Given the description of an element on the screen output the (x, y) to click on. 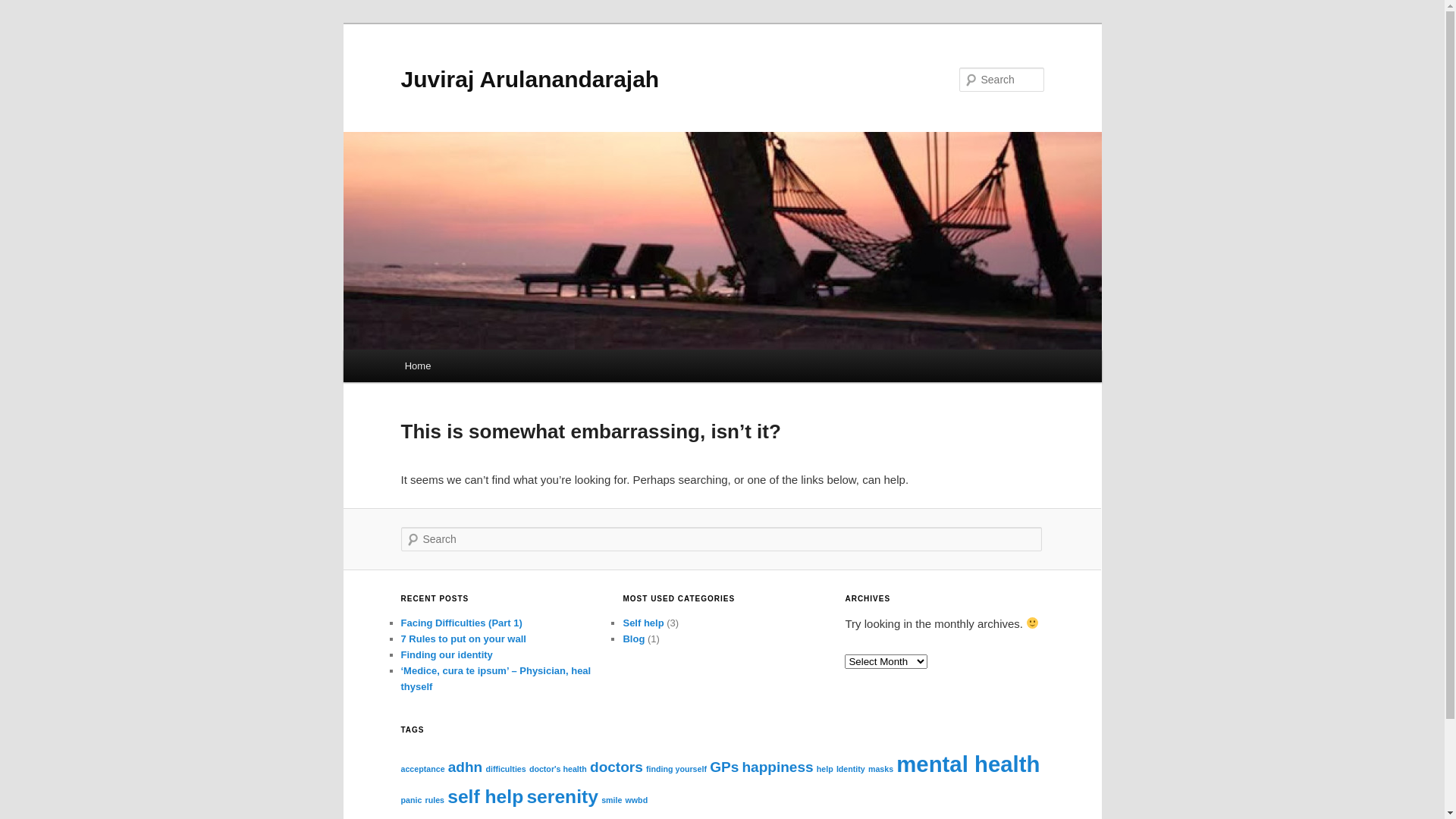
Skip to primary content Element type: text (22, 22)
finding yourself Element type: text (676, 768)
rules Element type: text (434, 799)
doctors Element type: text (616, 767)
serenity Element type: text (562, 796)
Juviraj Arulanandarajah Element type: text (529, 78)
adhn Element type: text (465, 767)
GPs Element type: text (723, 767)
mental health Element type: text (967, 763)
happiness Element type: text (776, 767)
panic Element type: text (410, 799)
self help Element type: text (485, 796)
7 Rules to put on your wall Element type: text (462, 638)
Identity Element type: text (850, 768)
Home Element type: text (417, 365)
Facing Difficulties (Part 1) Element type: text (460, 622)
masks Element type: text (880, 768)
Search Element type: text (24, 8)
Finding our identity Element type: text (446, 654)
wwbd Element type: text (636, 799)
help Element type: text (824, 768)
difficulties Element type: text (505, 768)
doctor's health Element type: text (557, 768)
Blog Element type: text (633, 638)
Self help Element type: text (642, 622)
acceptance Element type: text (422, 768)
smile Element type: text (611, 799)
